Given the description of an element on the screen output the (x, y) to click on. 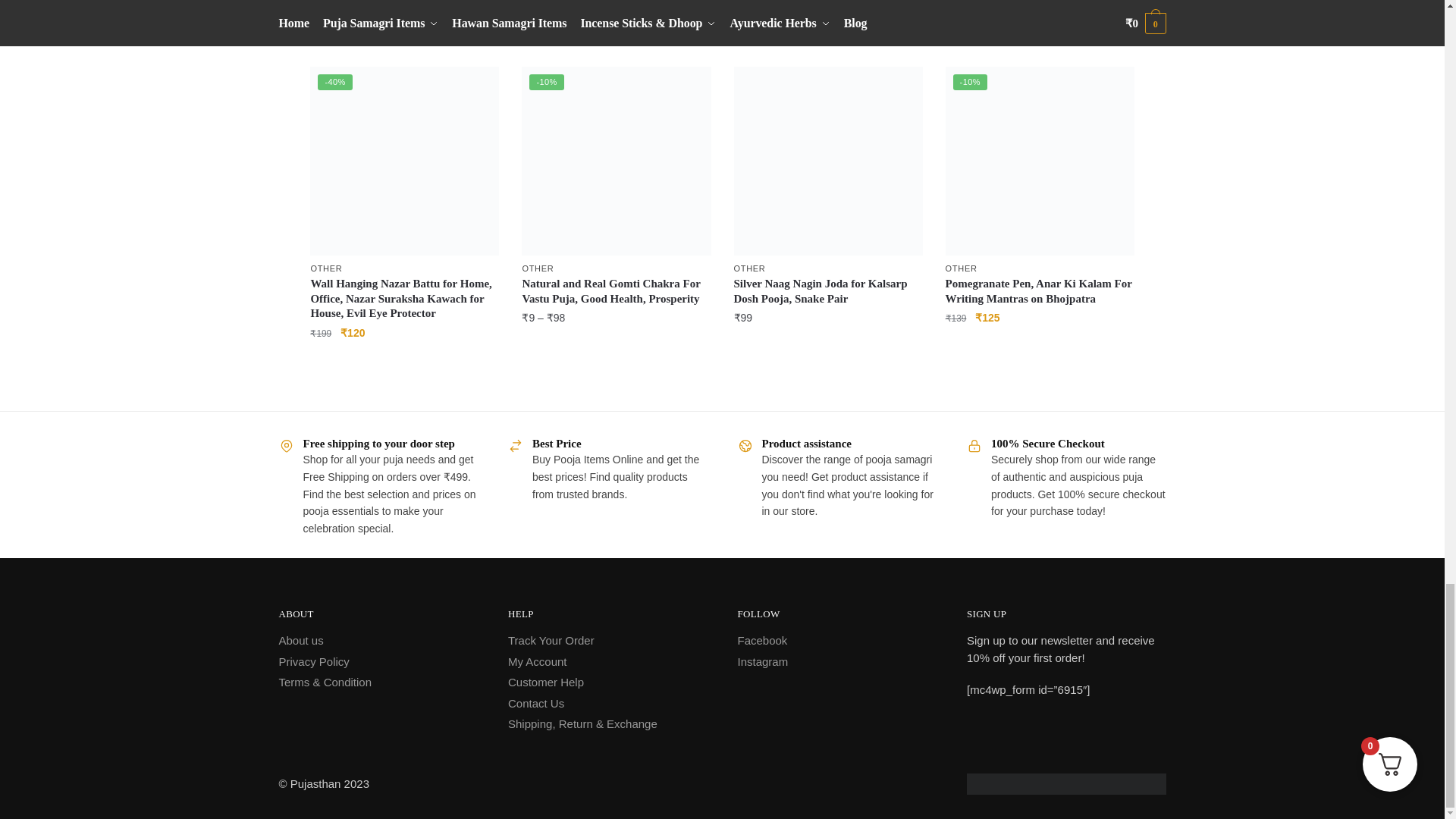
Silver Naag Nagin Joda for Kalsarp Dosh Pooja, Snake Pair (828, 160)
